Given the description of an element on the screen output the (x, y) to click on. 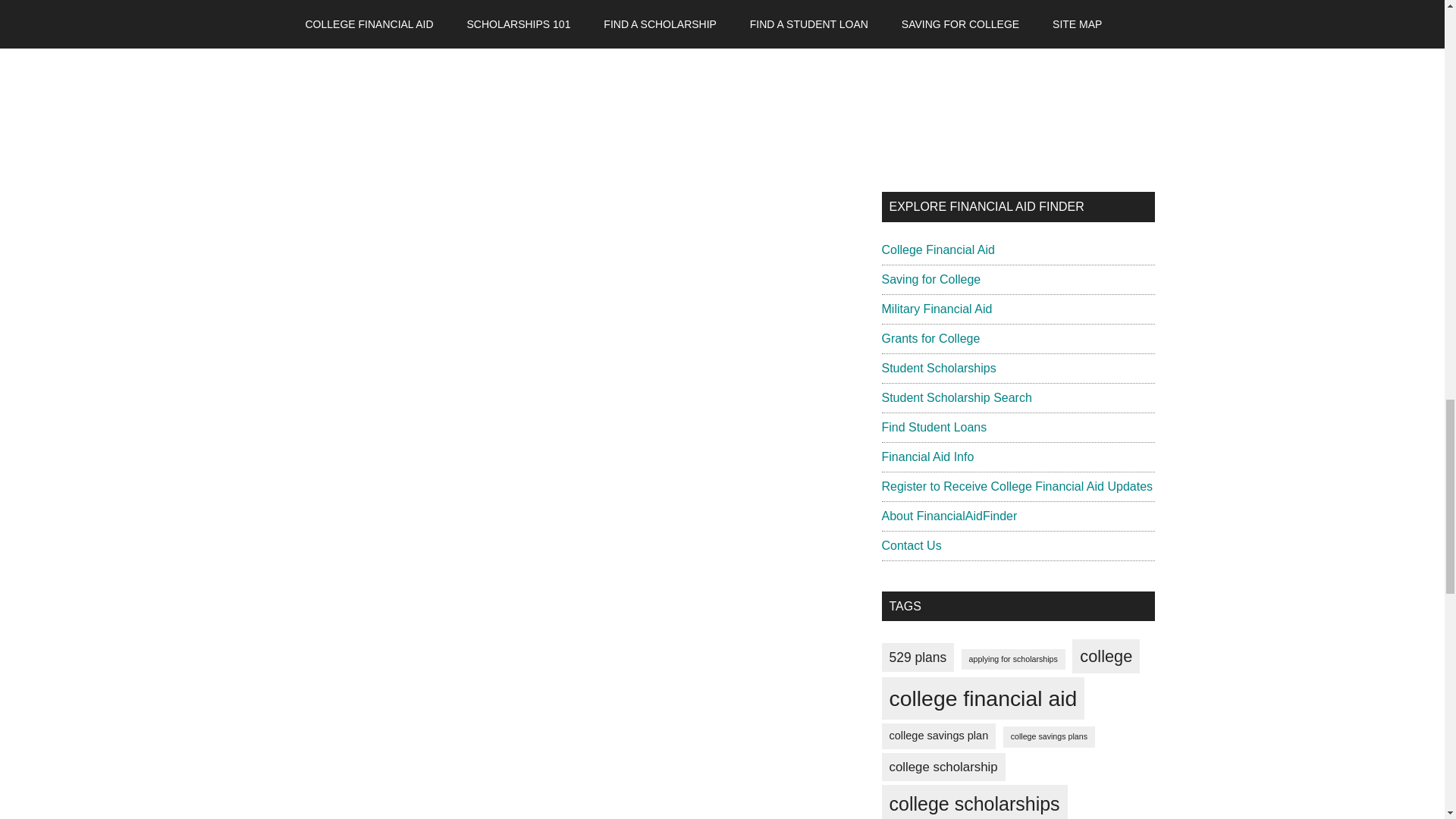
Contact Us (910, 545)
Grants for College (929, 338)
Student Scholarship Search (955, 397)
Financial Aid Info (927, 456)
College Financial Aid (937, 249)
Military Financial Aid (935, 308)
Student Scholarships (937, 367)
Register to Receive College Financial Aid Updates (1016, 486)
About FinancialAidFinder (948, 515)
Saving for College (929, 278)
Find Student Loans (933, 427)
